Given the description of an element on the screen output the (x, y) to click on. 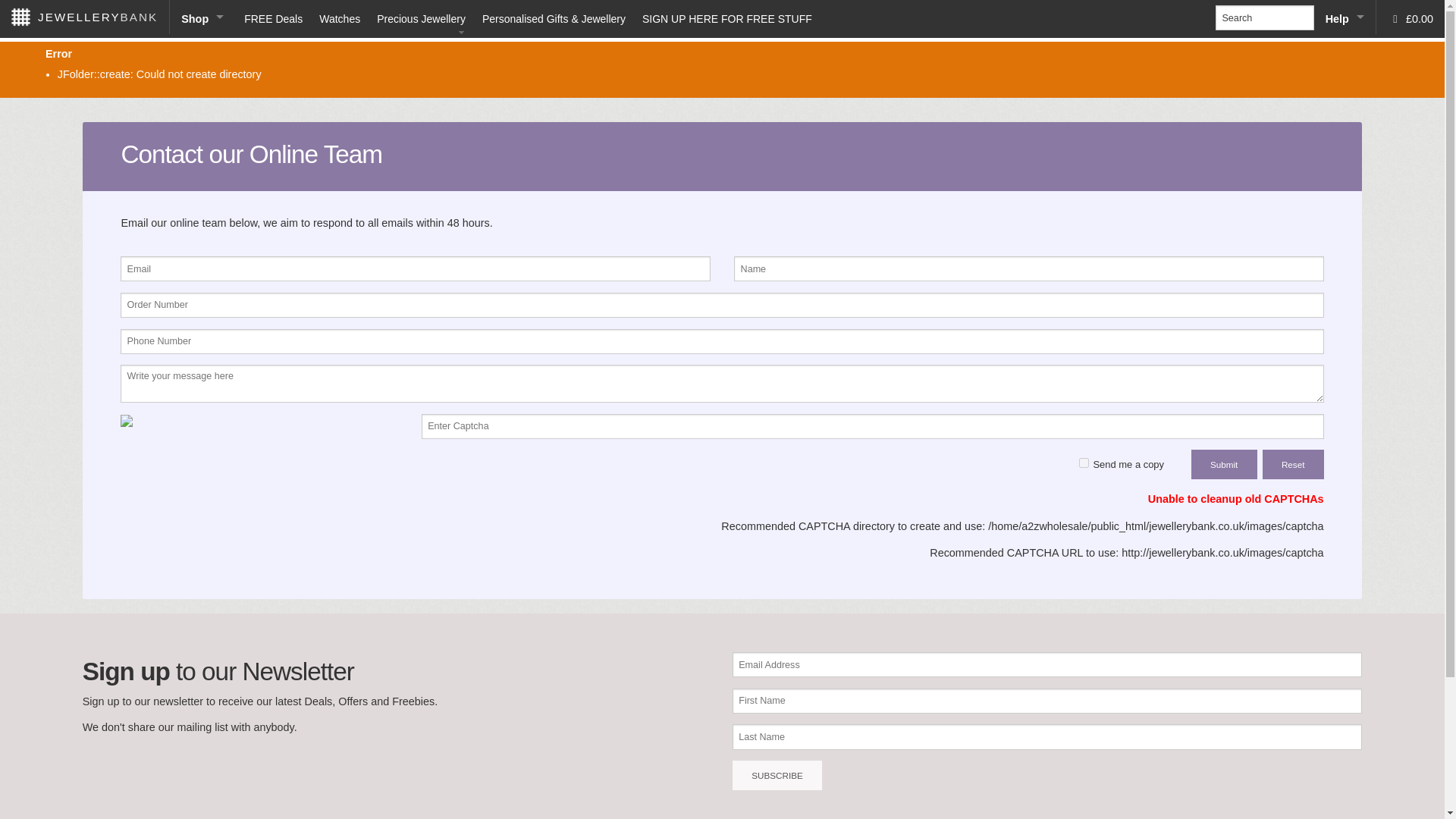
1 (1083, 462)
Submit (1224, 464)
Search (37, 9)
JEWELLERYBANK (84, 17)
Watches (338, 18)
Submit (1224, 464)
SUBSCRIBE (777, 775)
Shop (202, 18)
SIGN UP HERE FOR FREE STUFF (726, 18)
Reset (1292, 464)
SUBSCRIBE (777, 775)
FREE Deals (272, 18)
Search (1264, 17)
Help (1344, 18)
Click here to submit the form (1224, 464)
